Given the description of an element on the screen output the (x, y) to click on. 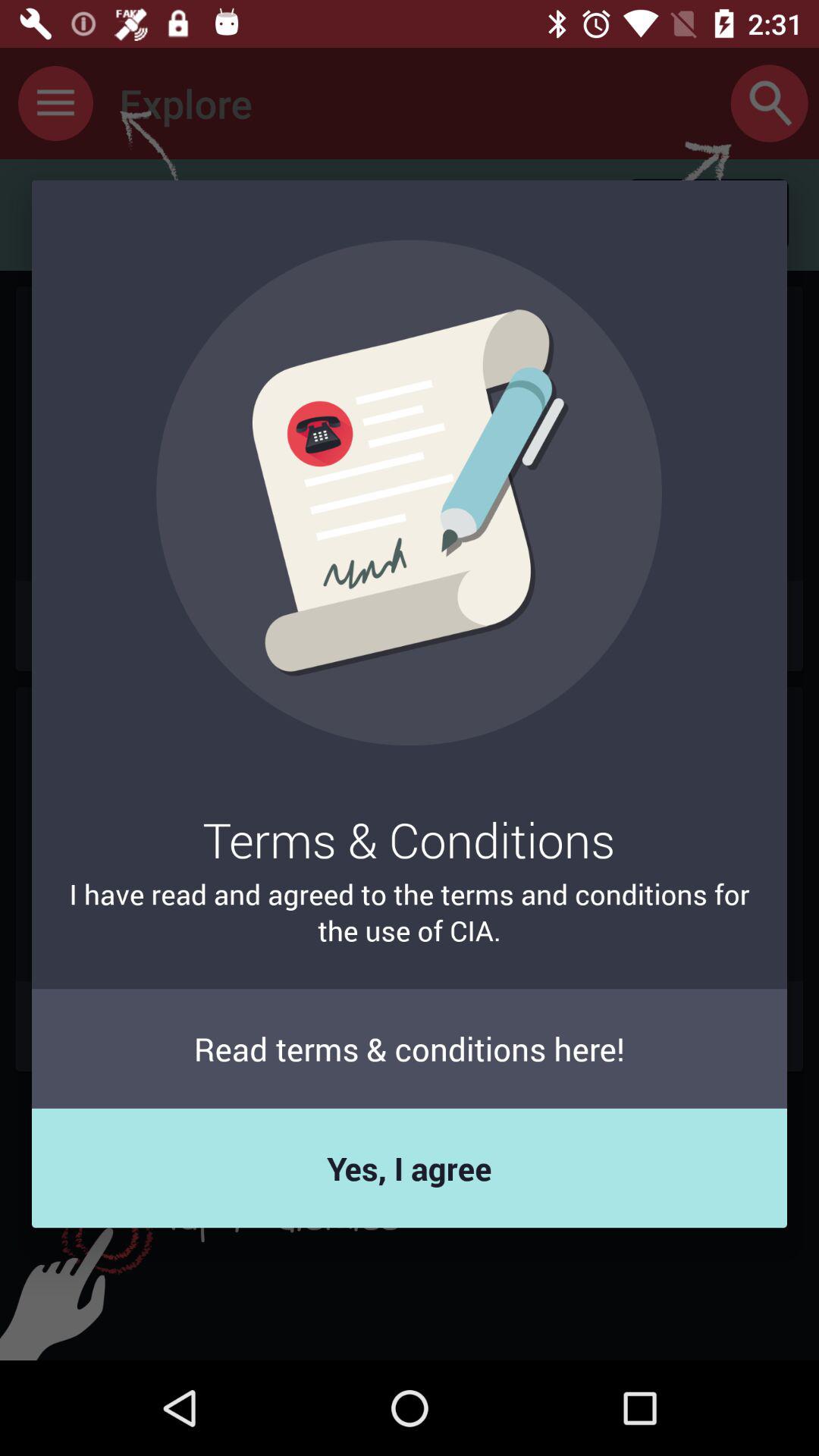
scroll until the yes, i agree icon (409, 1167)
